Given the description of an element on the screen output the (x, y) to click on. 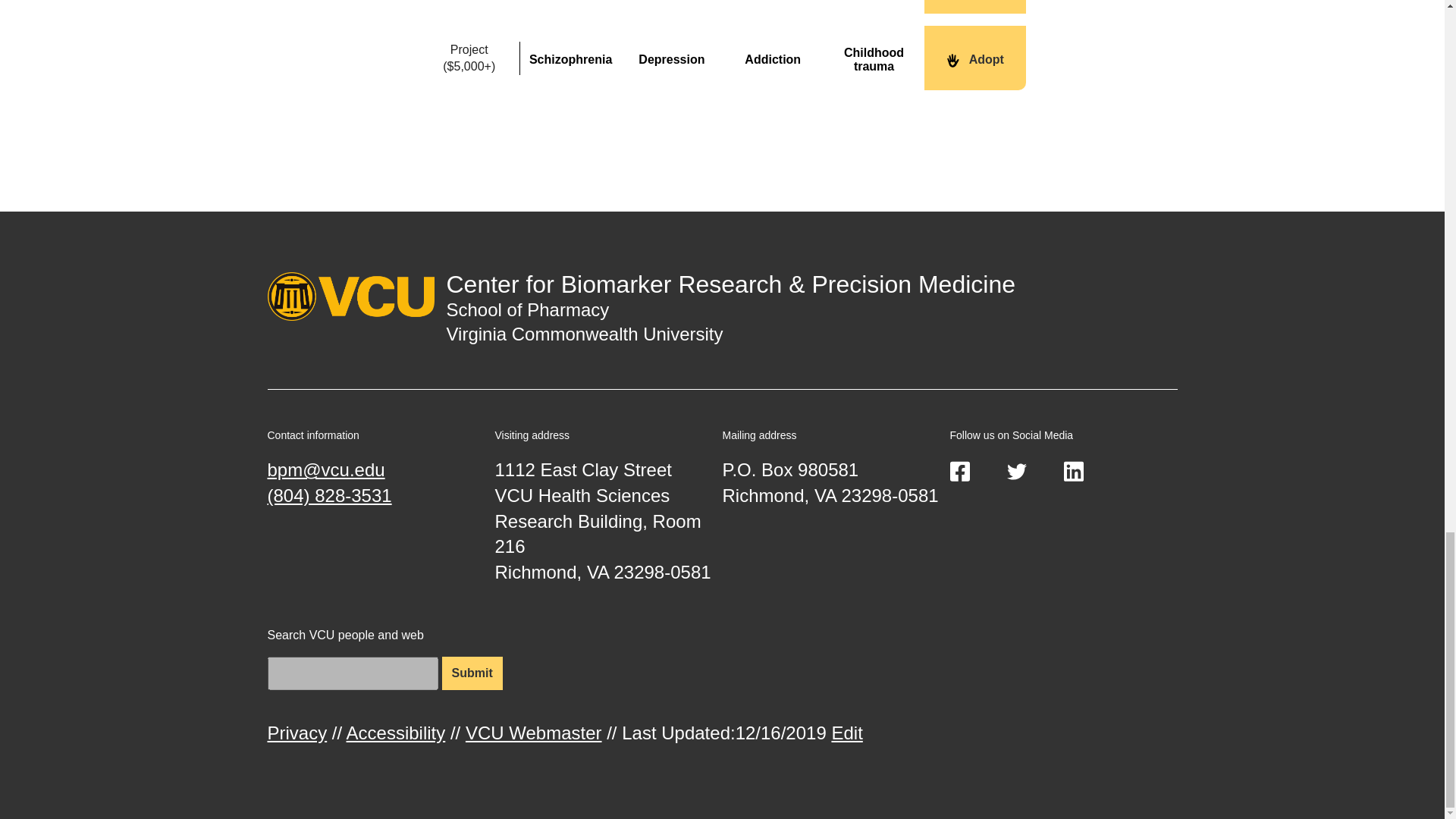
Adopt (974, 57)
School of Pharmacy (526, 309)
Accessibility at VCU (395, 732)
Depression (671, 57)
VCU privacy statement (296, 732)
Virginia Commonwealth University (583, 333)
Childhood trauma (874, 57)
VCU School of Pharmacy homepage (526, 309)
Schizophrenia (570, 57)
VCU homepage (583, 333)
